Given the description of an element on the screen output the (x, y) to click on. 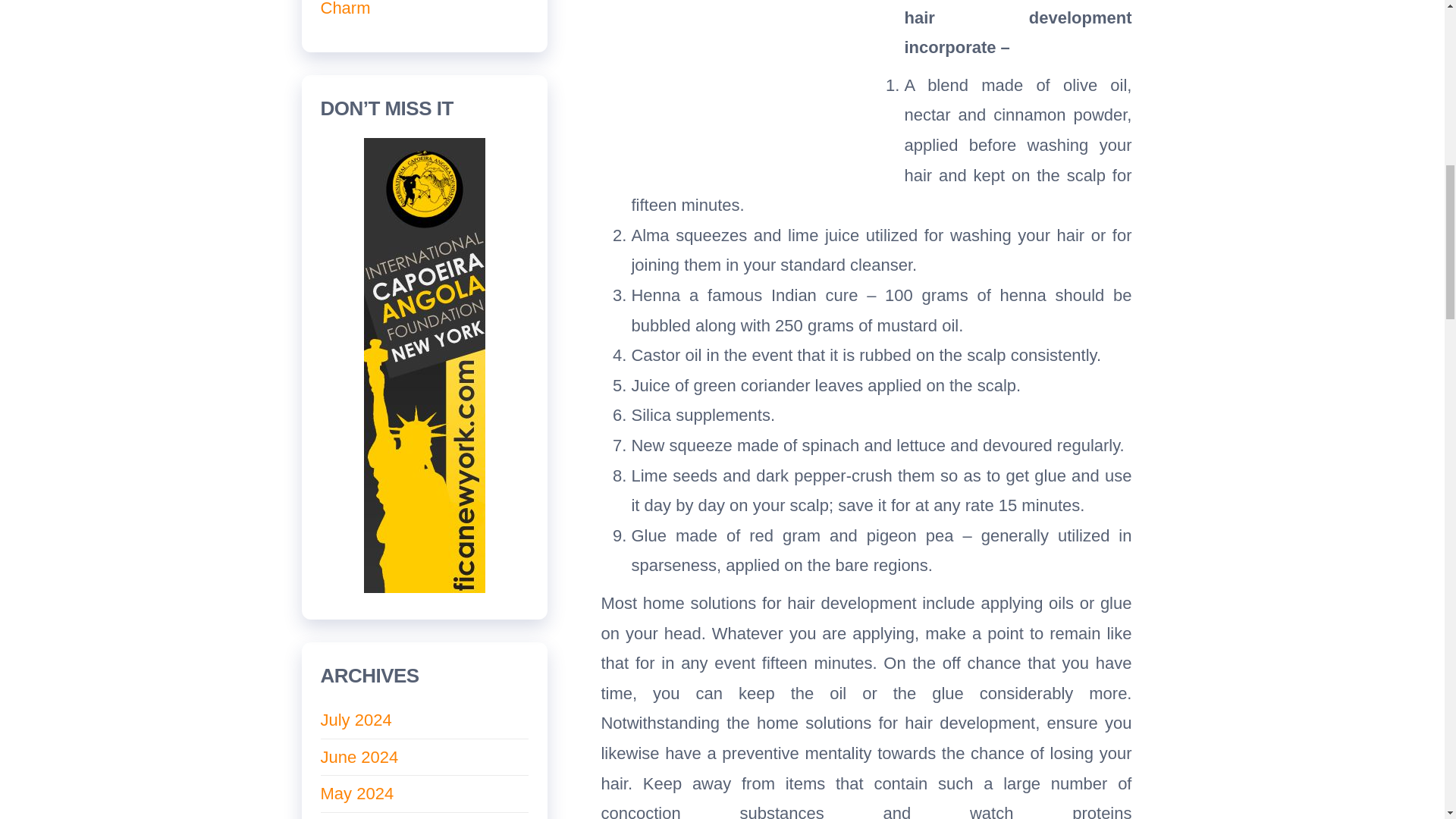
July 2024 (355, 719)
May 2024 (356, 793)
June 2024 (358, 756)
